Given the description of an element on the screen output the (x, y) to click on. 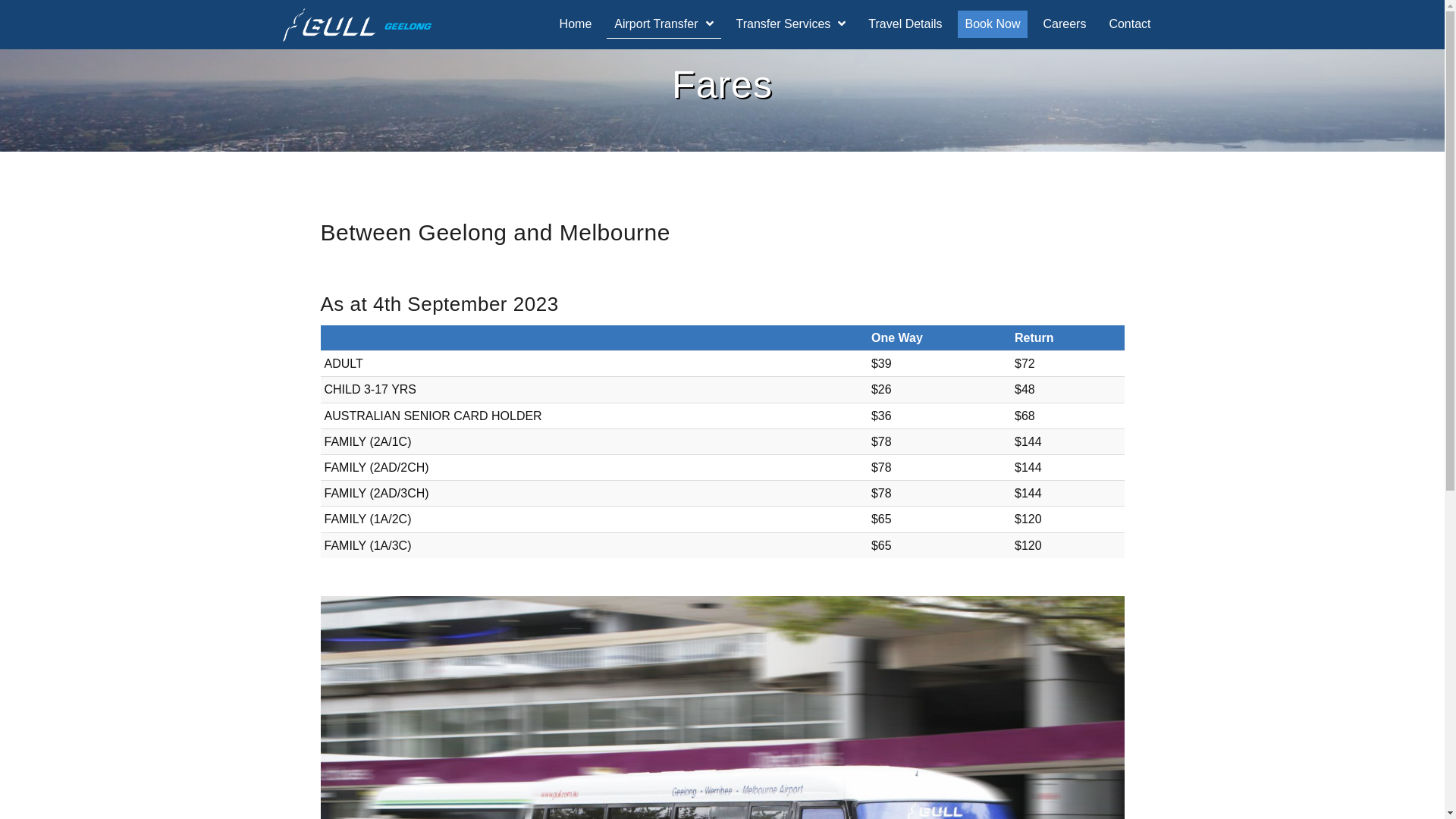
Transfer Services Element type: text (790, 24)
Home Element type: text (575, 24)
Careers Element type: text (1064, 24)
Travel Details Element type: text (904, 24)
Book Now Element type: text (992, 24)
Gull Airport Geelong White Element type: hover (356, 24)
Contact Element type: text (1129, 24)
Airport Transfer Element type: text (663, 24)
